Given the description of an element on the screen output the (x, y) to click on. 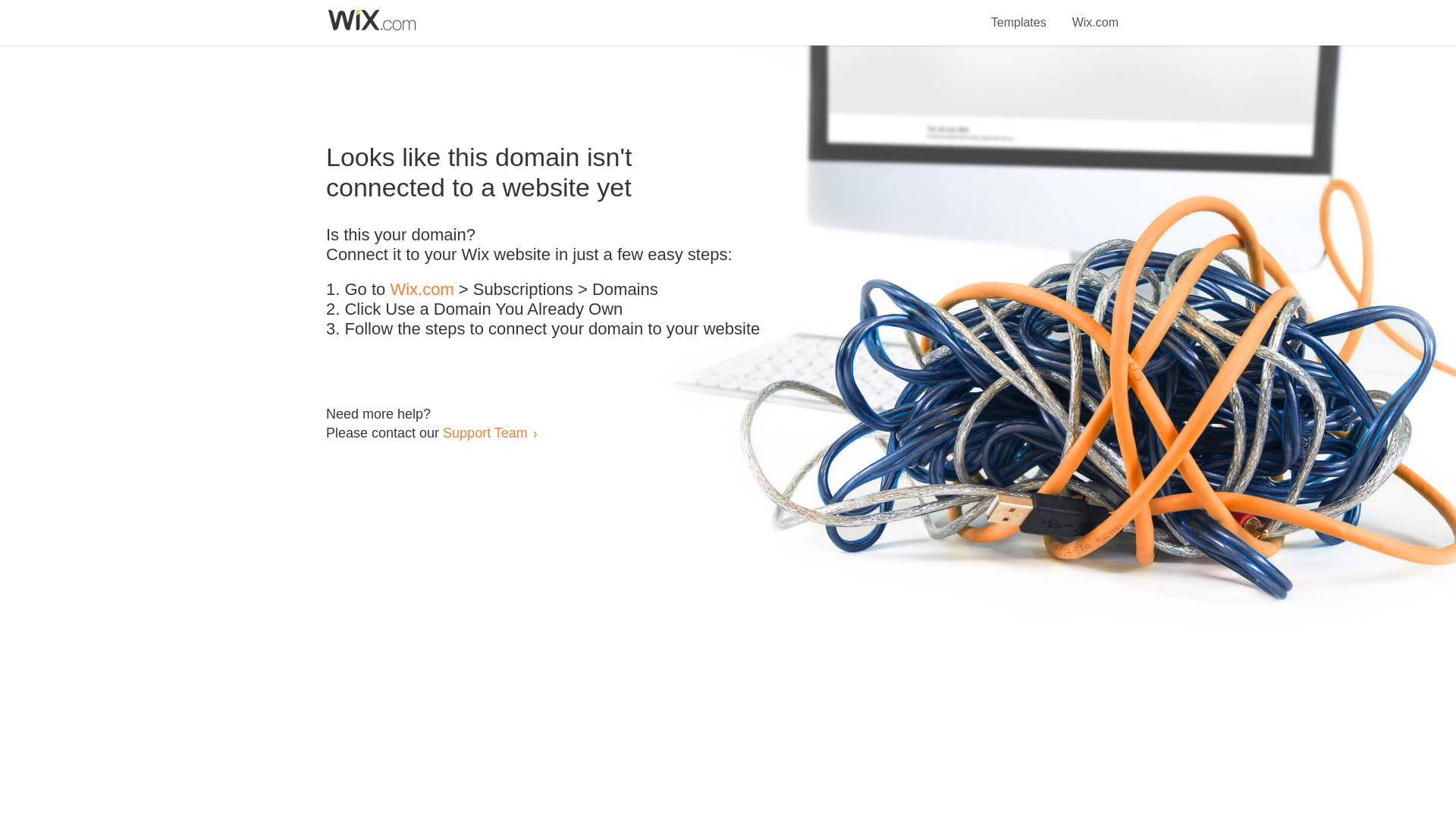
Support Team (484, 432)
Templates (1018, 14)
Wix.com (421, 289)
Wix.com (1095, 14)
